Given the description of an element on the screen output the (x, y) to click on. 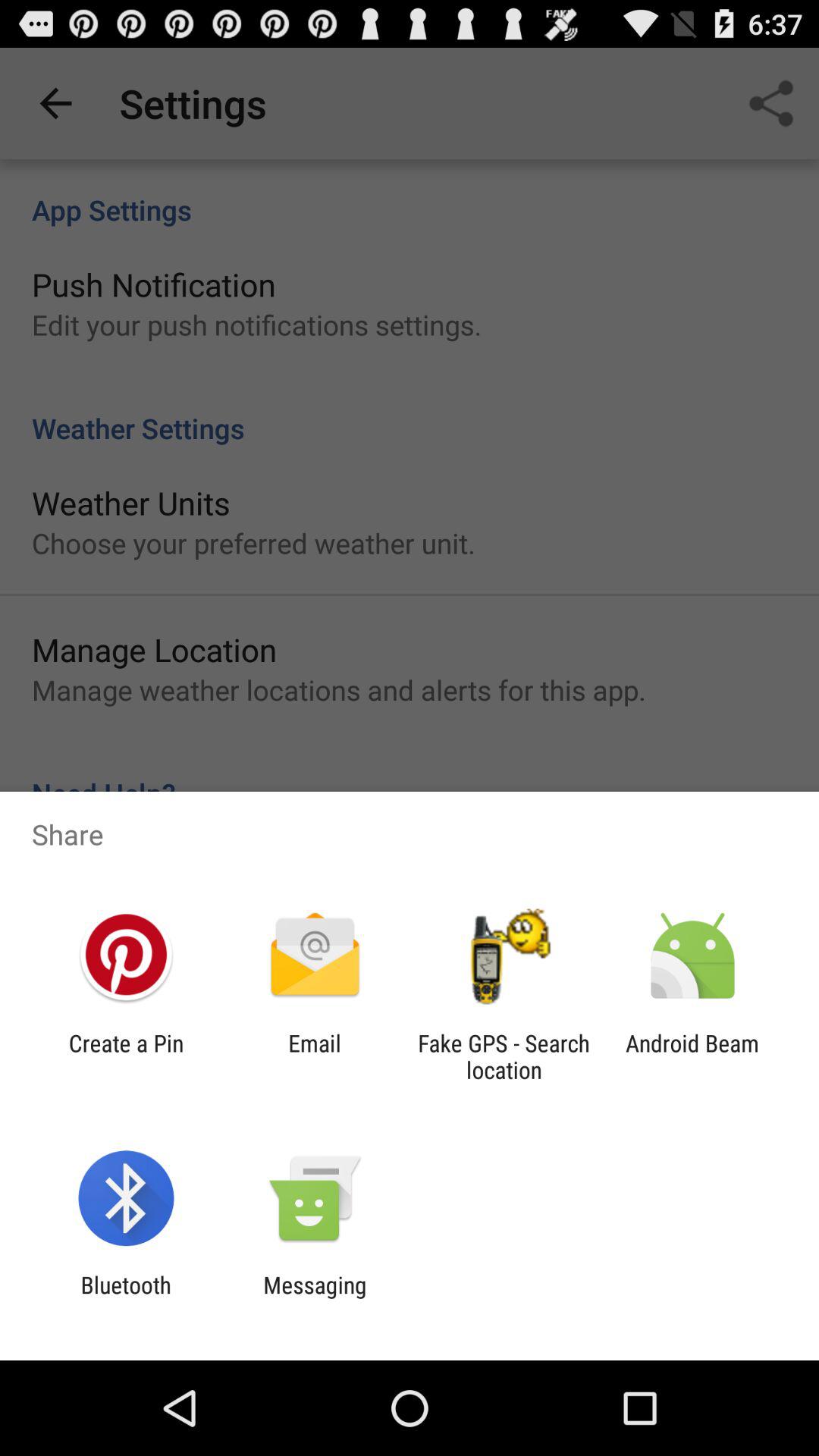
select the icon next to the fake gps search app (314, 1056)
